Given the description of an element on the screen output the (x, y) to click on. 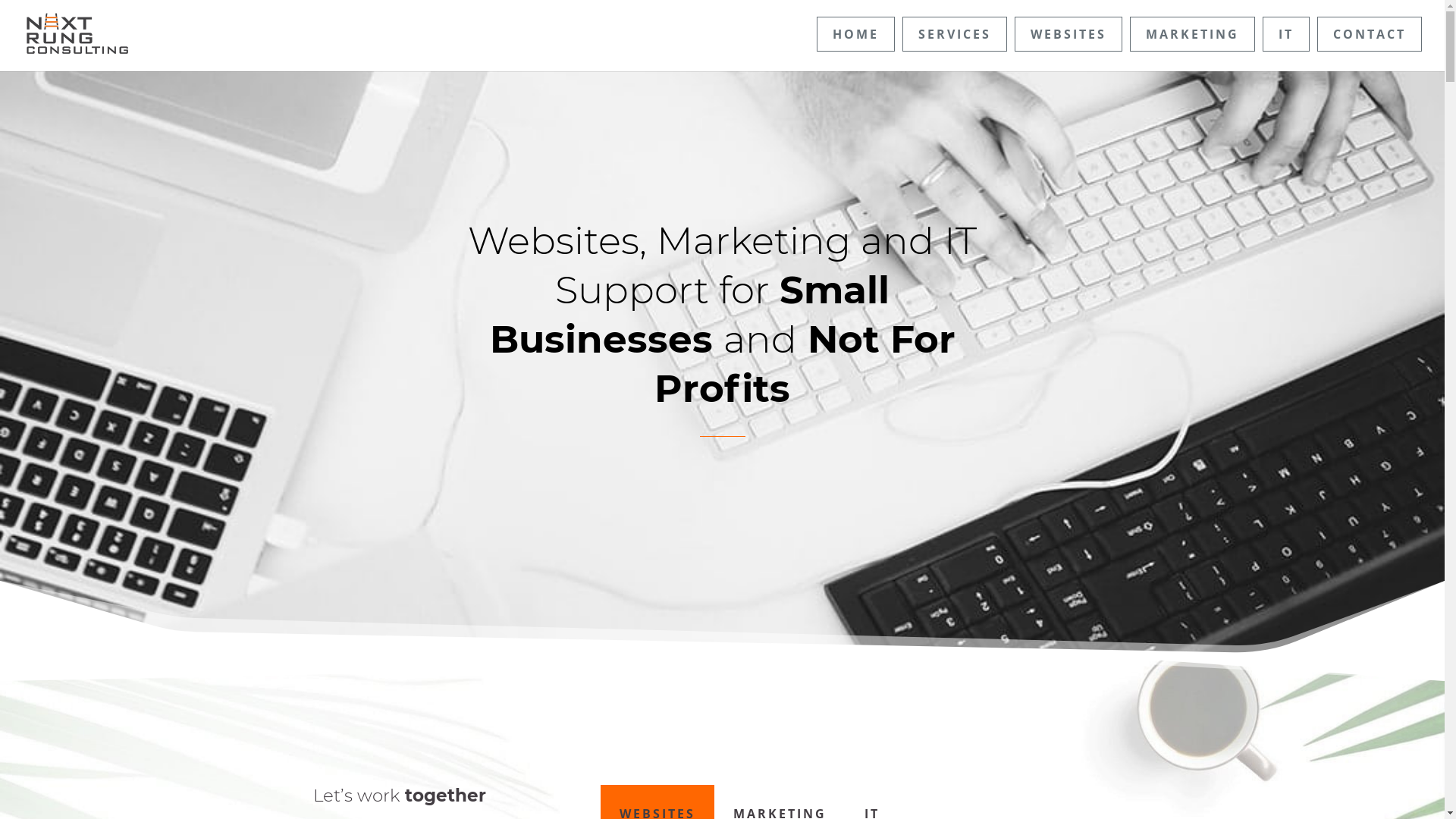
SERVICES Element type: text (954, 33)
IT Element type: text (1285, 33)
WEBSITES Element type: text (1068, 33)
CONTACT Element type: text (1369, 33)
HOME Element type: text (855, 33)
MARKETING Element type: text (1192, 33)
